Given the description of an element on the screen output the (x, y) to click on. 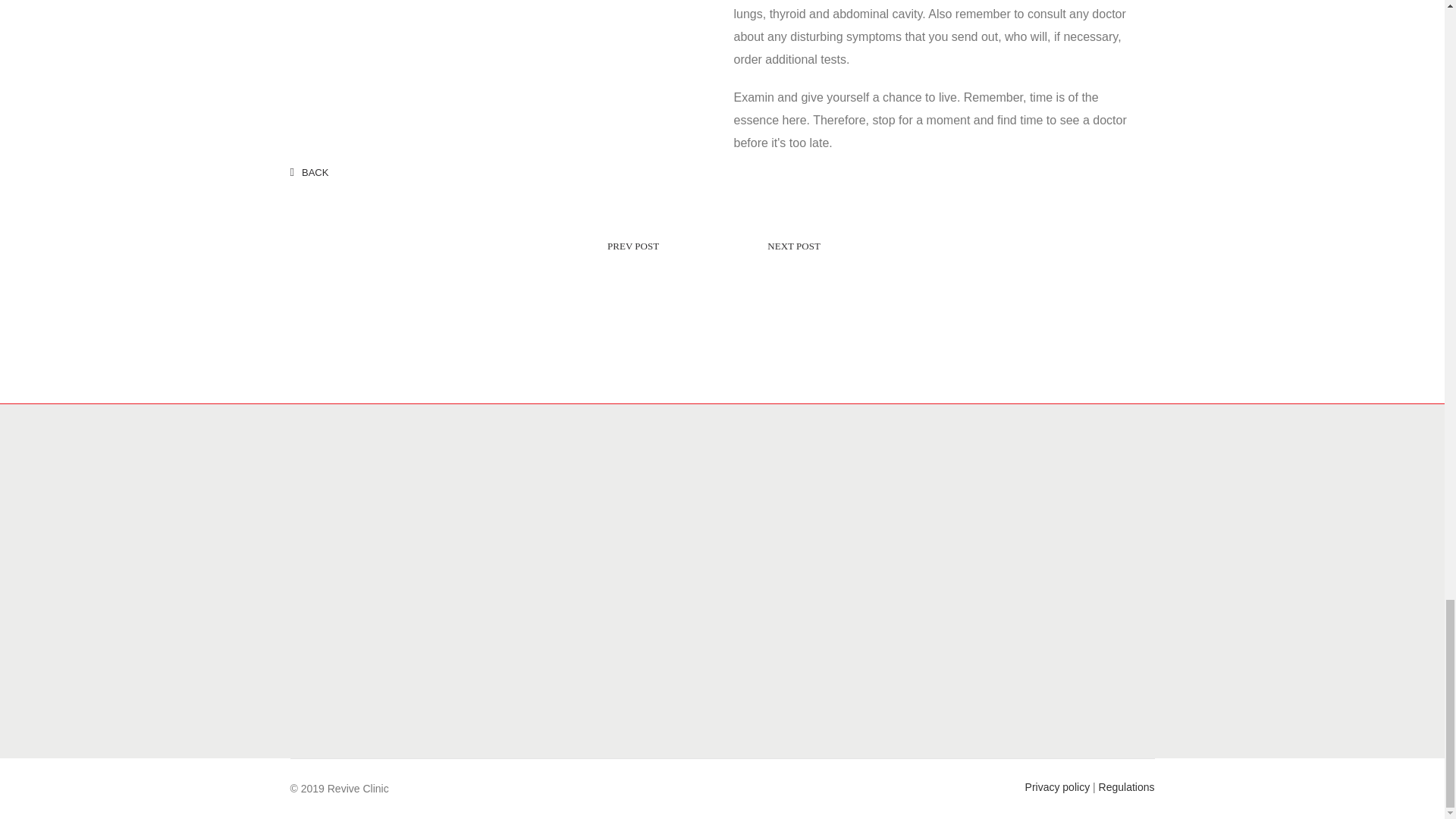
NEXT POST (925, 247)
BACK (309, 172)
PREV POST (501, 247)
Sign up (1131, 709)
